Given the description of an element on the screen output the (x, y) to click on. 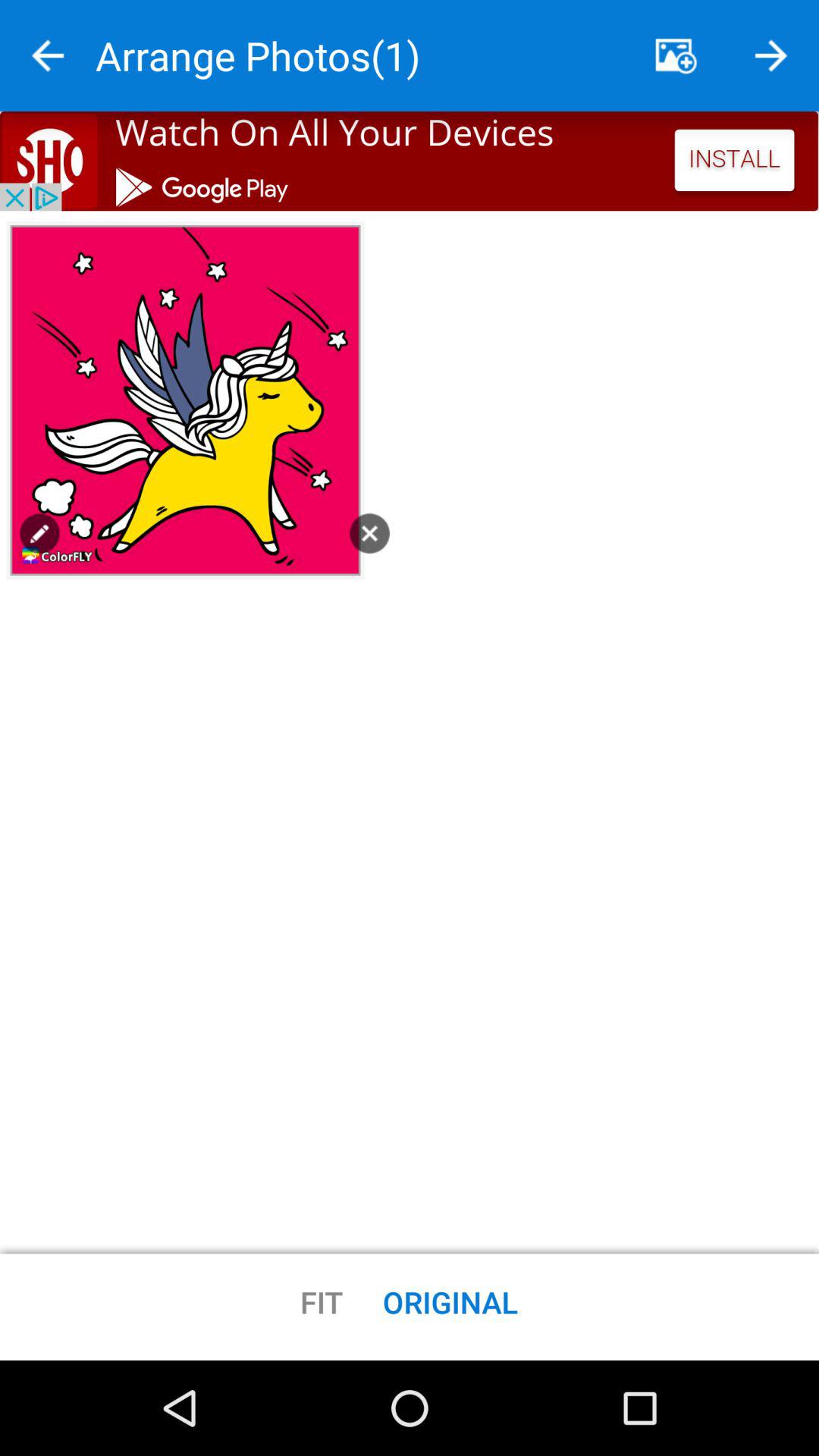
exit button (369, 533)
